Given the description of an element on the screen output the (x, y) to click on. 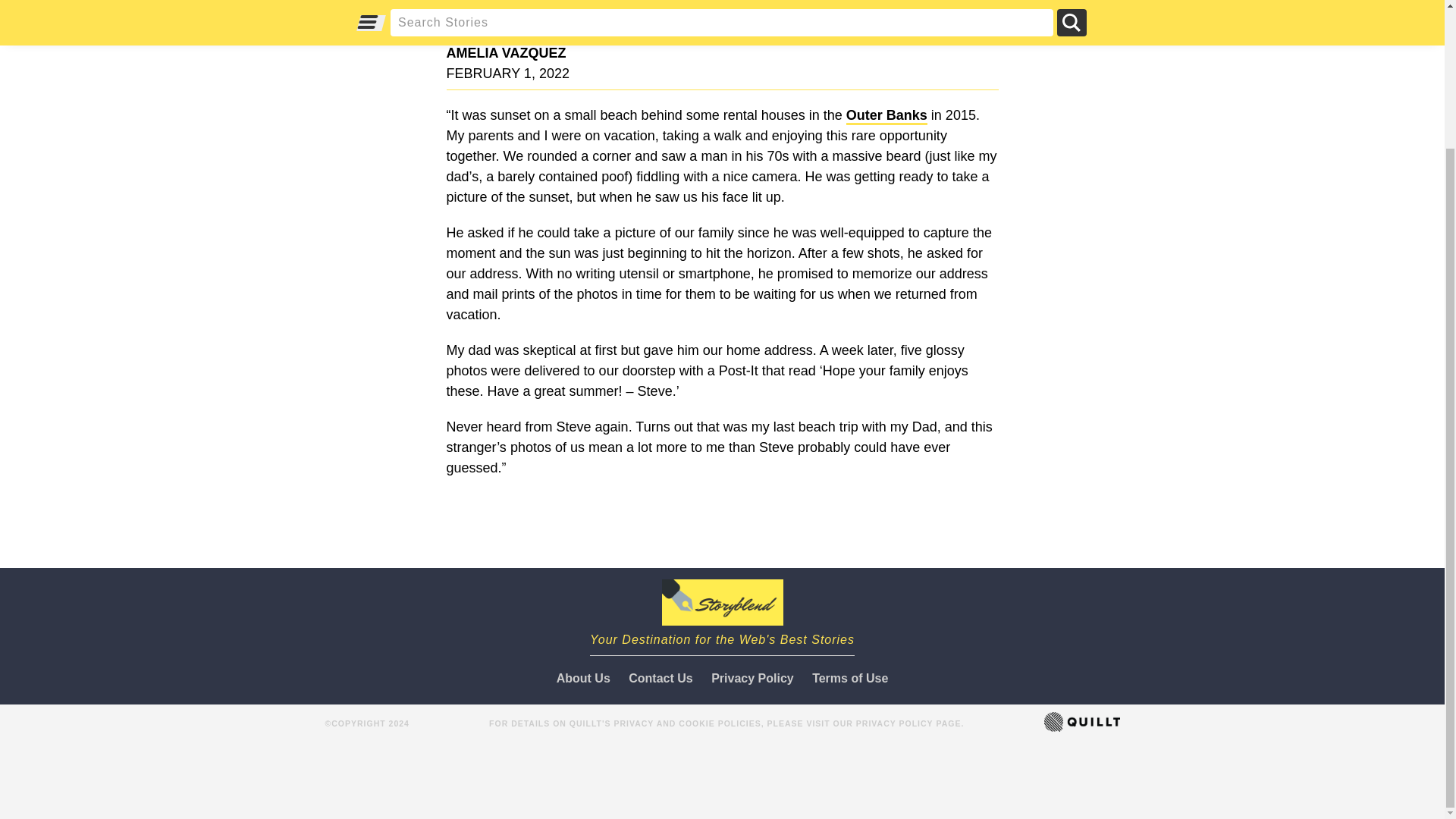
Outer Banks (886, 116)
Contact Us (660, 677)
Terms of Use (846, 677)
PRIVACY POLICY (894, 723)
Privacy Policy (752, 677)
AMELIA VAZQUEZ (717, 53)
About Us (586, 677)
Home (721, 612)
